Given the description of an element on the screen output the (x, y) to click on. 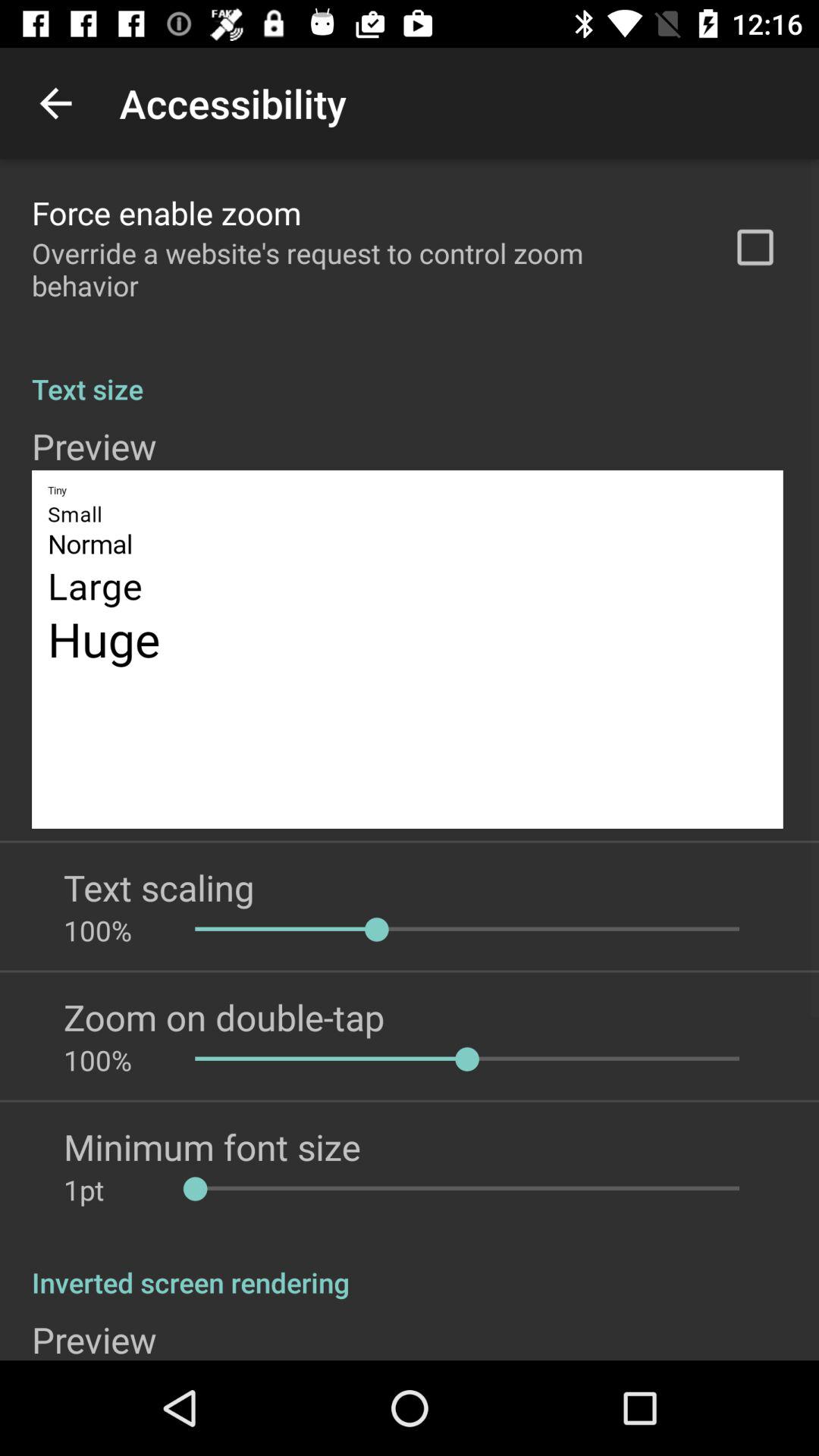
select app above text size app (361, 269)
